Given the description of an element on the screen output the (x, y) to click on. 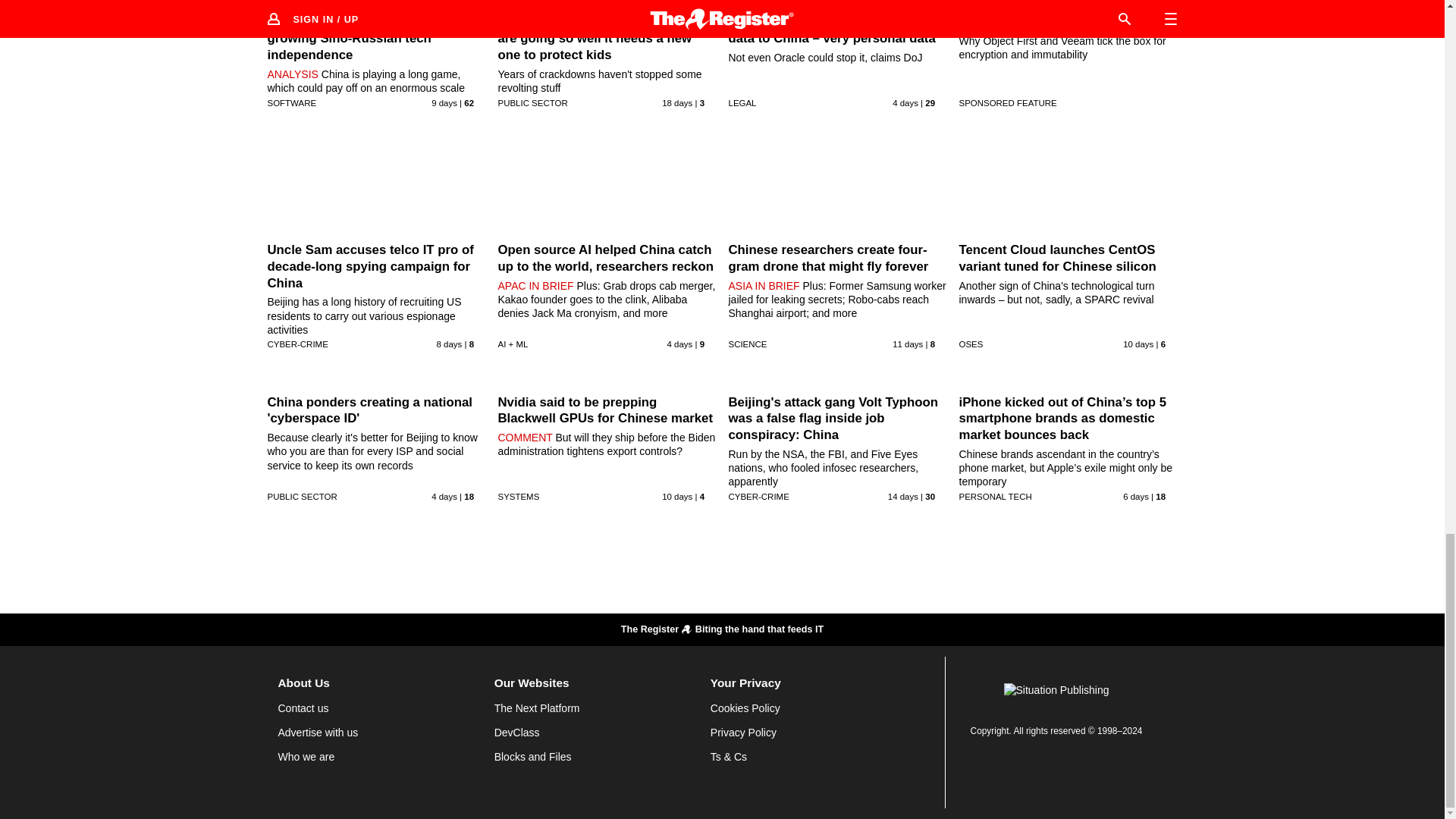
15 Jul 2024 5:32 (677, 102)
25 Jul 2024 17:15 (449, 343)
22 Jul 2024 1:53 (907, 343)
22 Jul 2024 18:30 (677, 496)
29 Jul 2024 0:52 (679, 343)
29 Jul 2024 4:29 (905, 102)
23 Jul 2024 4:28 (1137, 343)
29 Jul 2024 5:28 (443, 496)
24 Jul 2024 13:3 (443, 102)
